Given the description of an element on the screen output the (x, y) to click on. 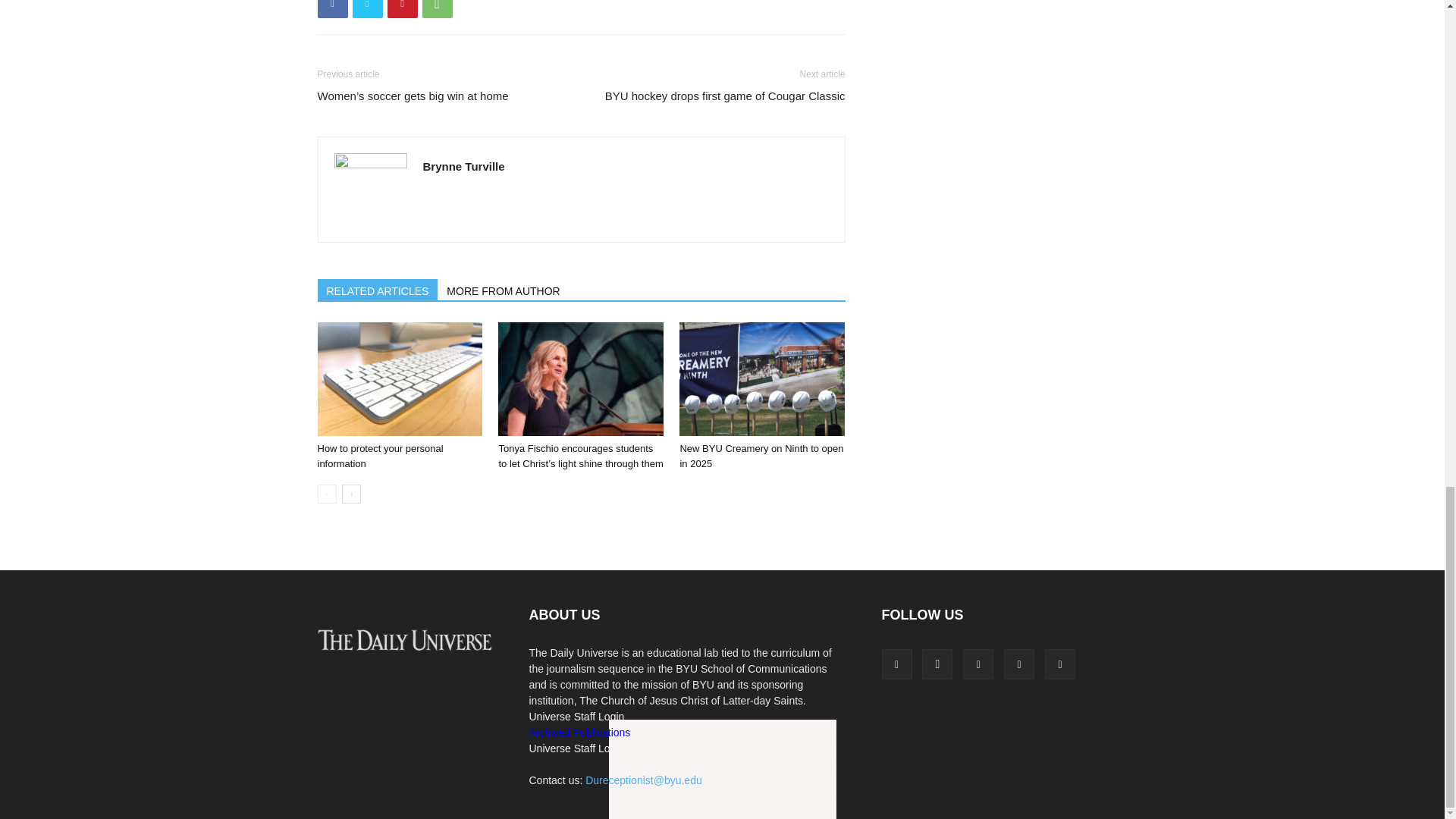
WhatsApp (436, 9)
How to protect your personal information (399, 378)
Facebook (332, 9)
Pinterest (401, 9)
Twitter (366, 9)
